Given the description of an element on the screen output the (x, y) to click on. 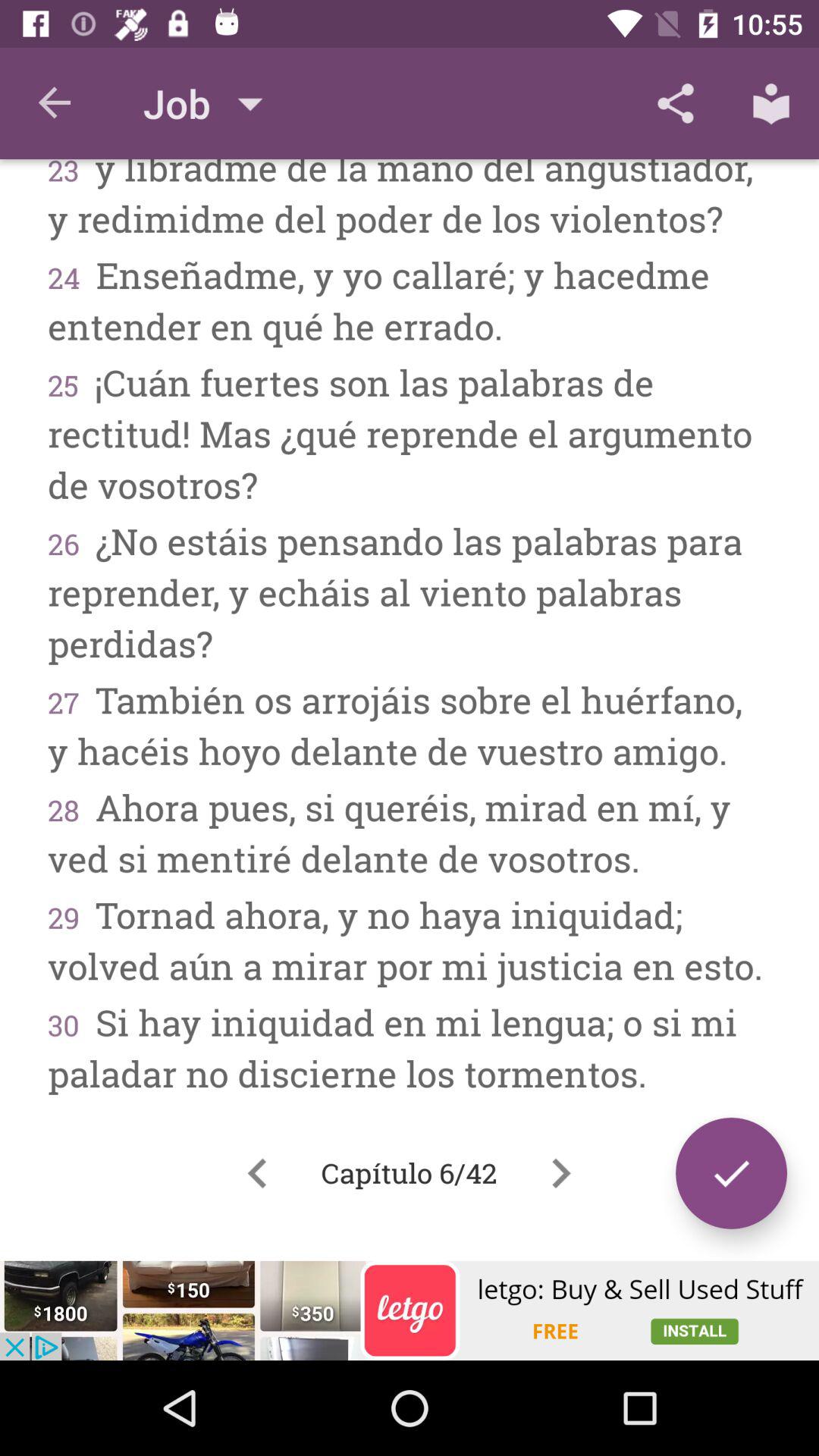
tap icon next to job icon (55, 103)
